Given the description of an element on the screen output the (x, y) to click on. 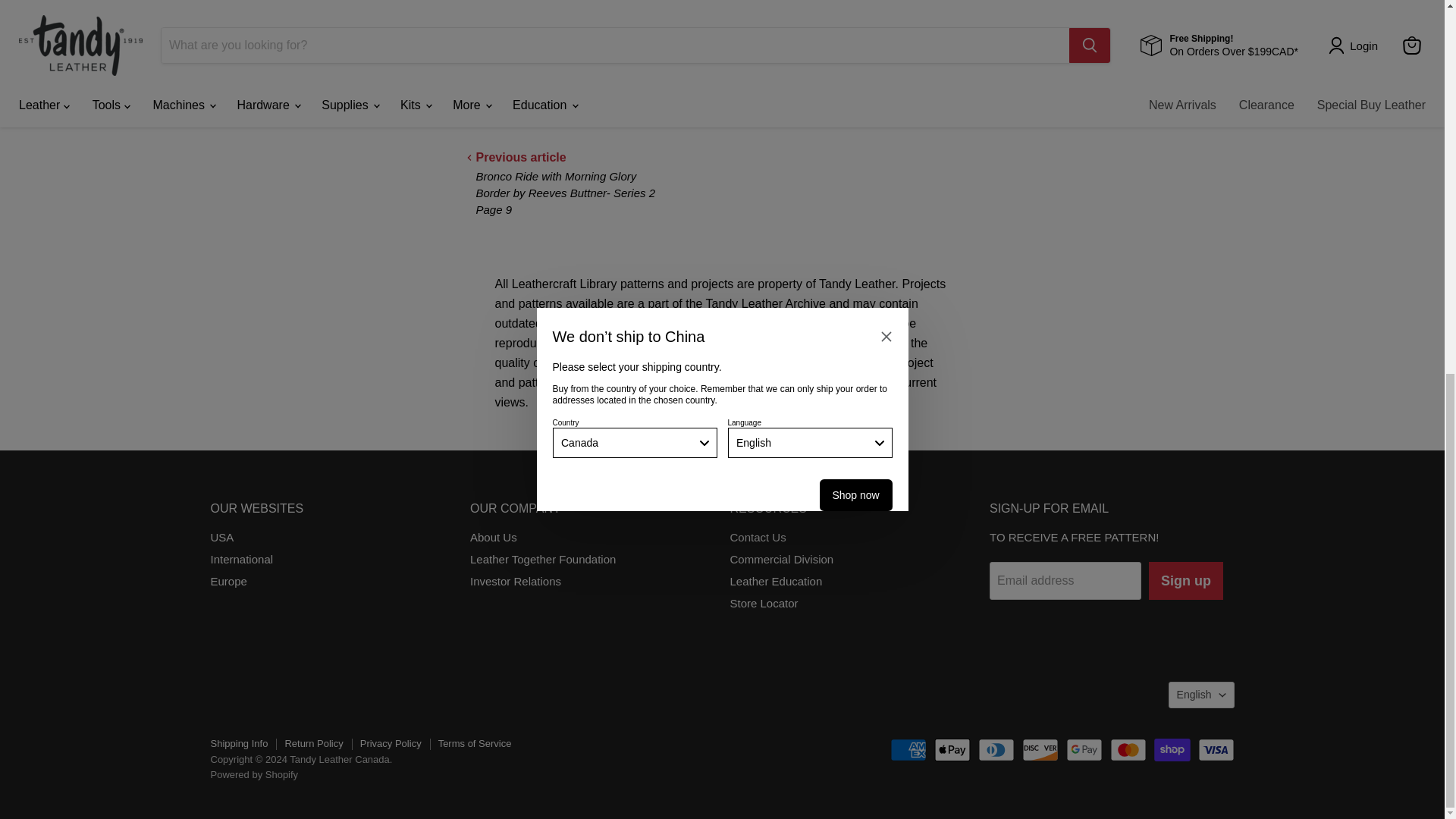
American Express (907, 749)
Show articles tagged Doodle Pages (551, 92)
Apple Pay (952, 749)
